Given the description of an element on the screen output the (x, y) to click on. 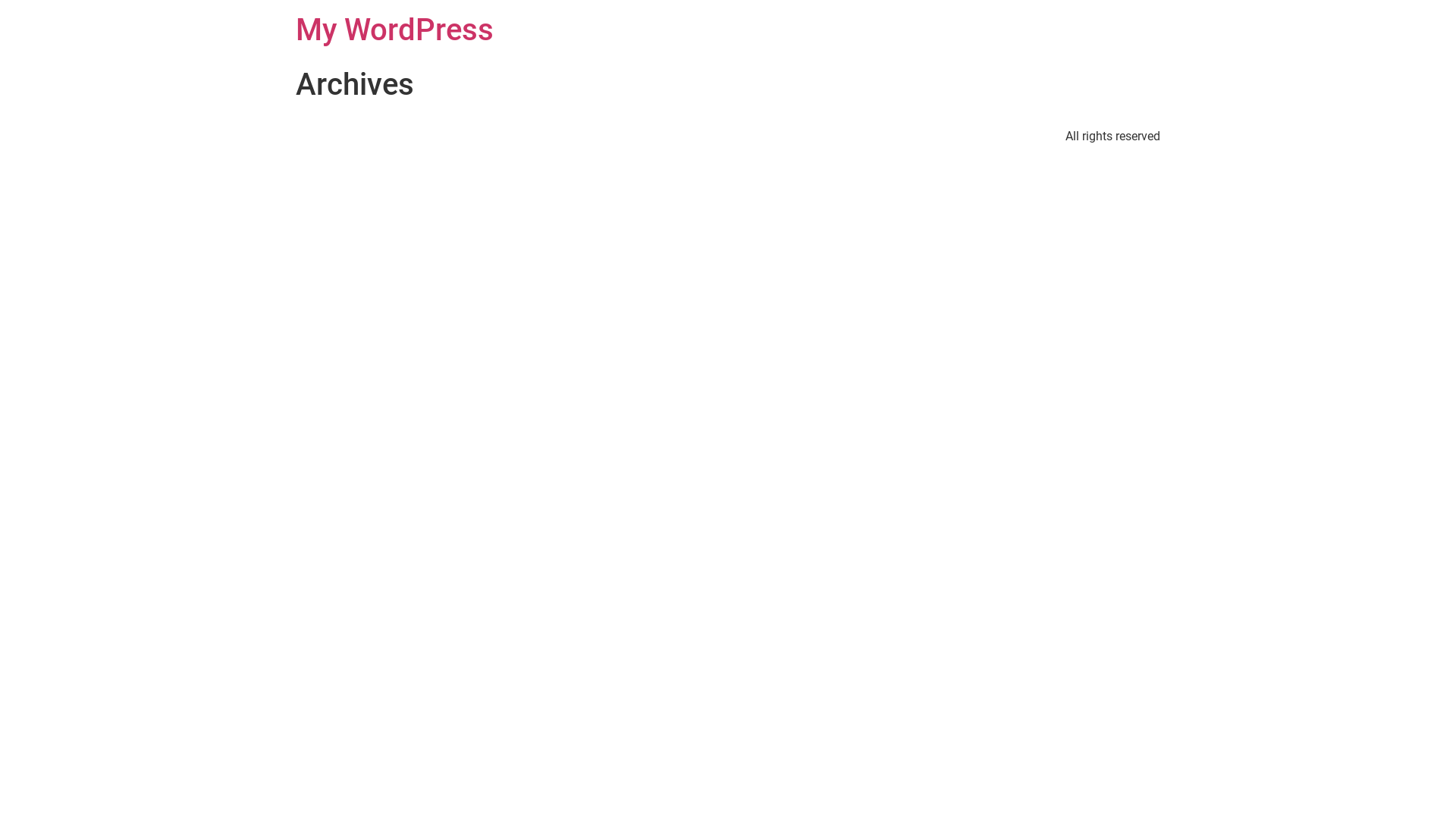
My WordPress Element type: text (394, 29)
